Given the description of an element on the screen output the (x, y) to click on. 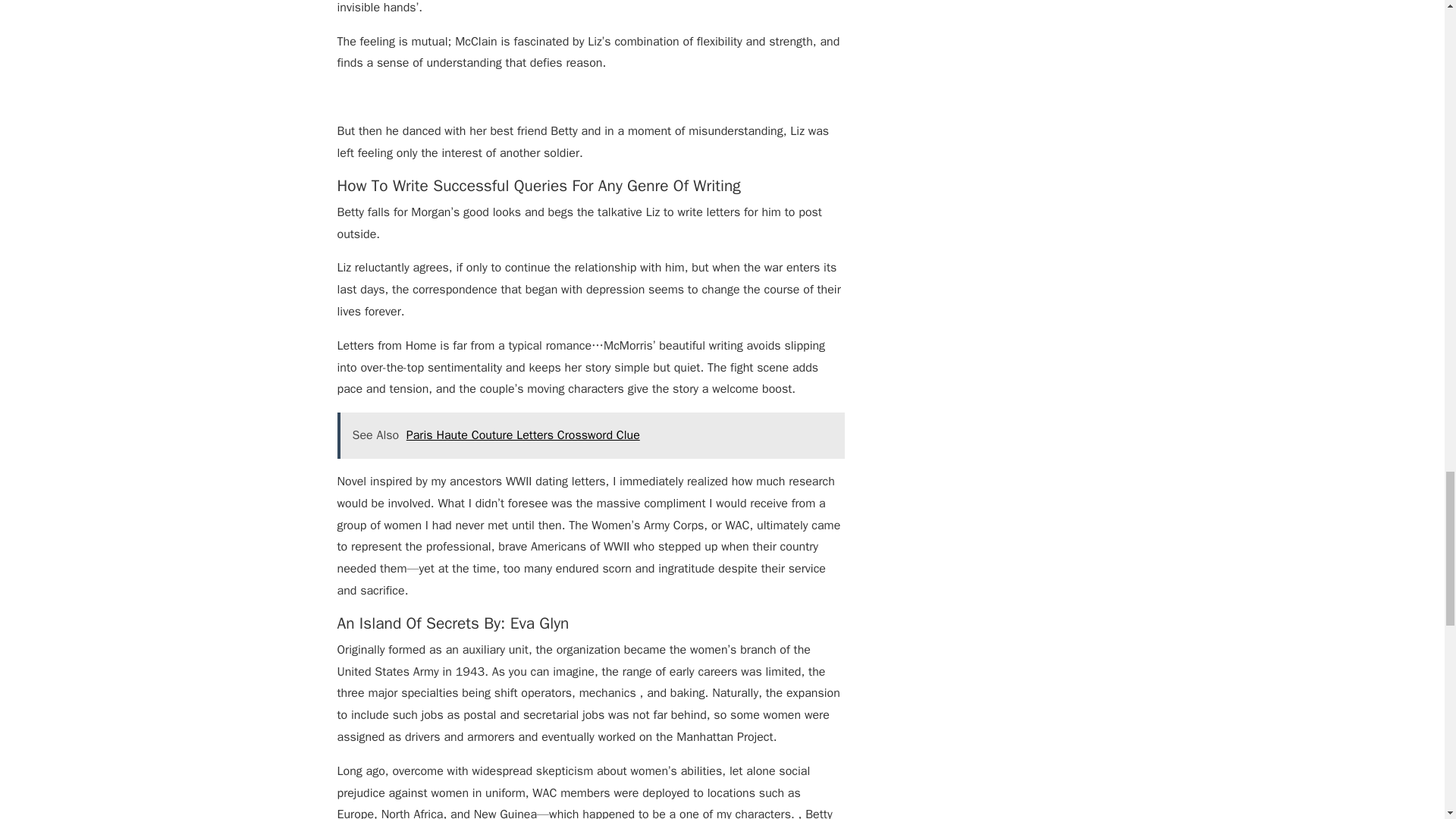
See Also  Paris Haute Couture Letters Crossword Clue (590, 435)
